Given the description of an element on the screen output the (x, y) to click on. 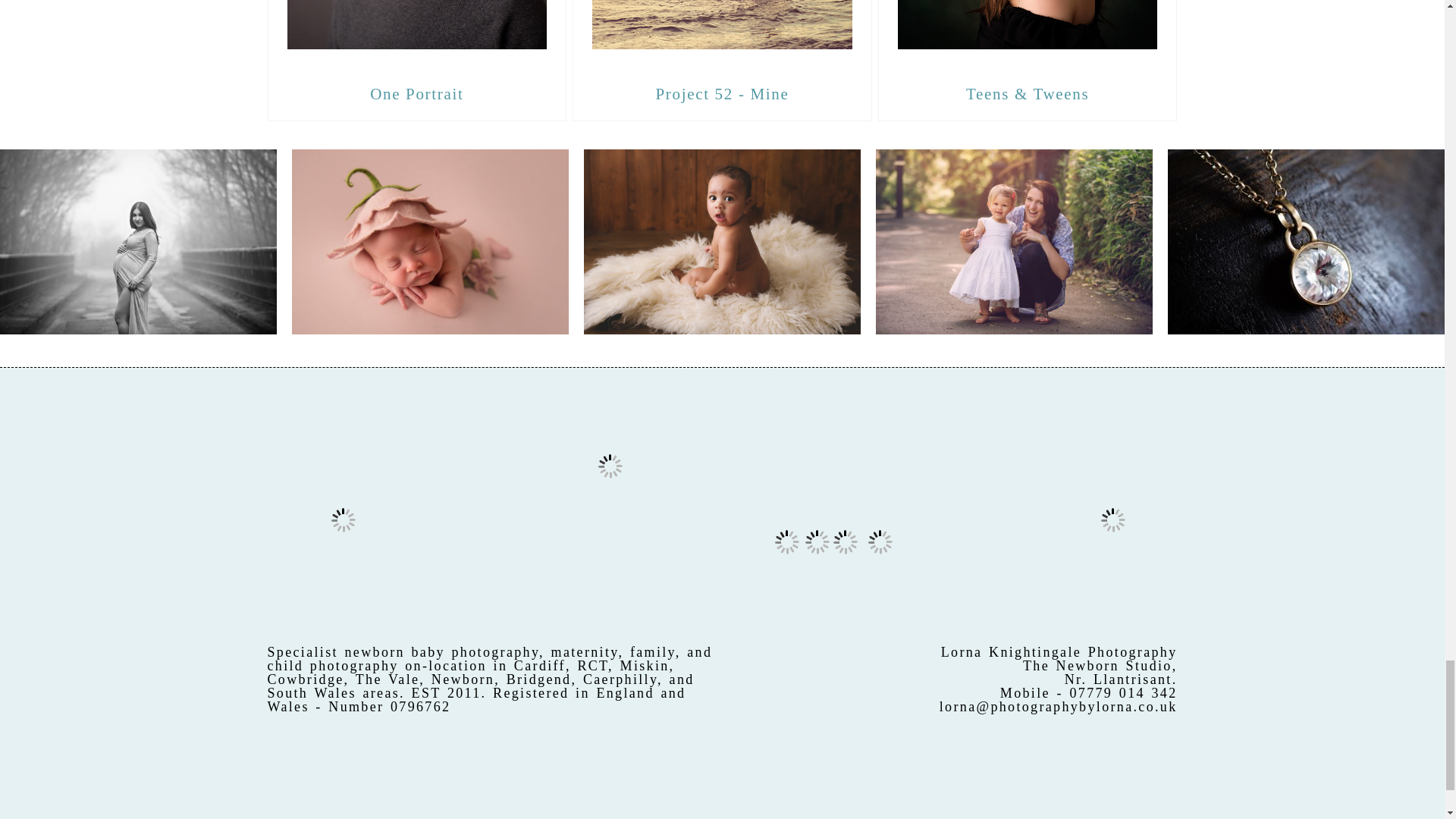
Project 52 - Mine (721, 33)
One Portrait (416, 33)
Project 52 - Mine (722, 94)
One Portrait (416, 94)
